Given the description of an element on the screen output the (x, y) to click on. 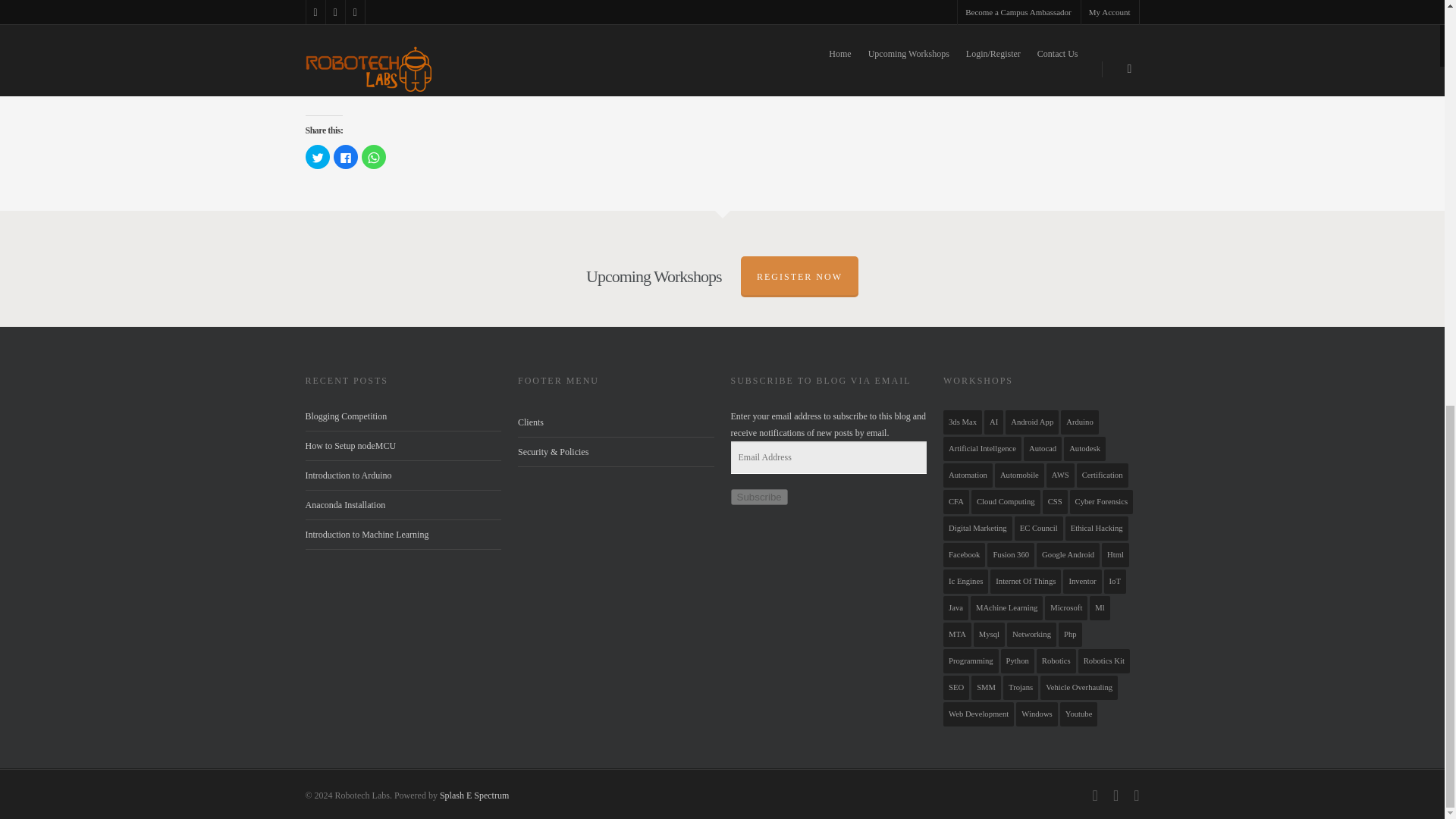
Introduction to Arduino (347, 475)
REGISTER NOW (800, 276)
Anaconda Installation (344, 504)
Clients (616, 422)
Click to share on WhatsApp (373, 156)
How to Setup nodeMCU (350, 445)
Blogging Competition (345, 416)
Subscribe (758, 496)
3ds Max (962, 422)
Introduction to Machine Learning (366, 534)
